Given the description of an element on the screen output the (x, y) to click on. 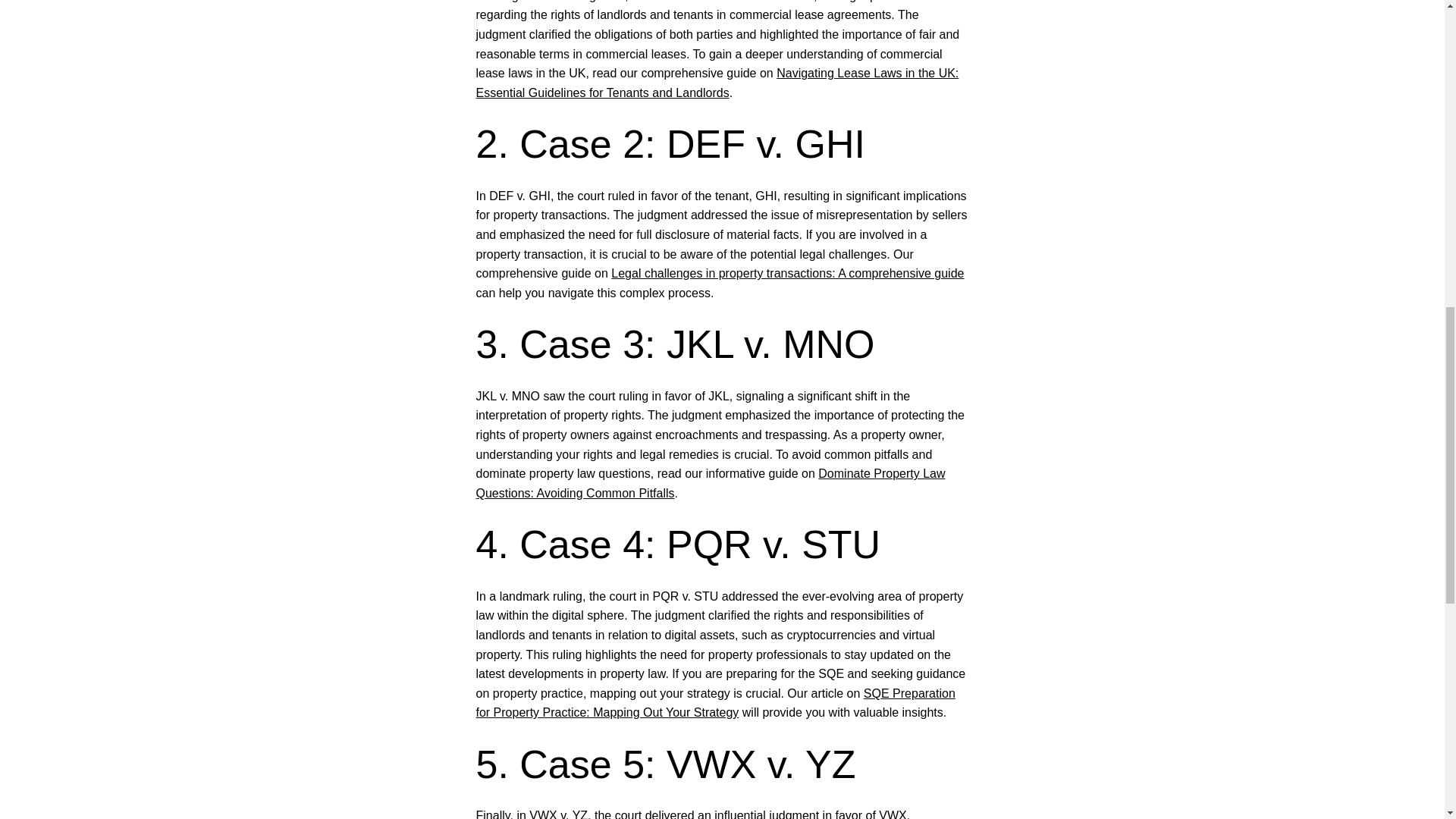
Dominate Property Law Questions: Avoiding Common Pitfalls (710, 482)
